Given the description of an element on the screen output the (x, y) to click on. 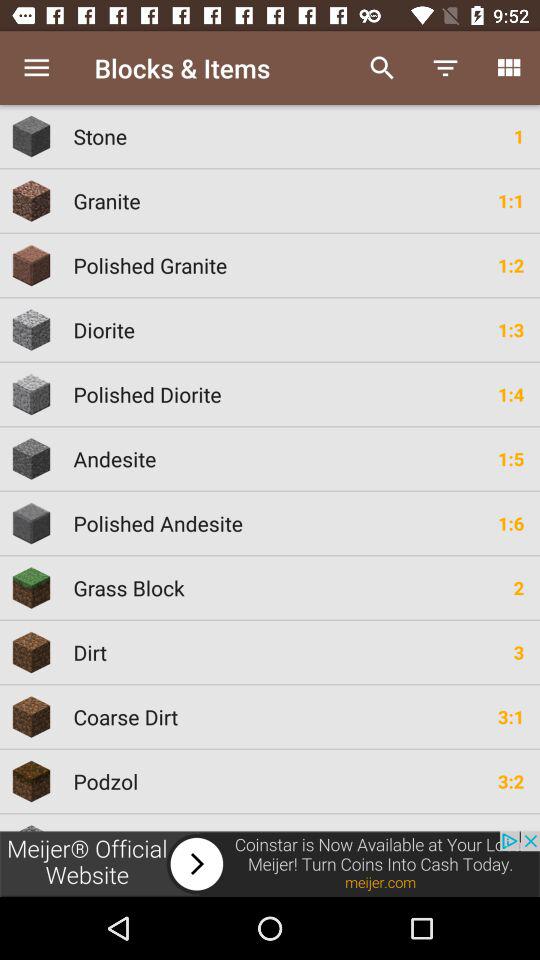
go to website (270, 864)
